Given the description of an element on the screen output the (x, y) to click on. 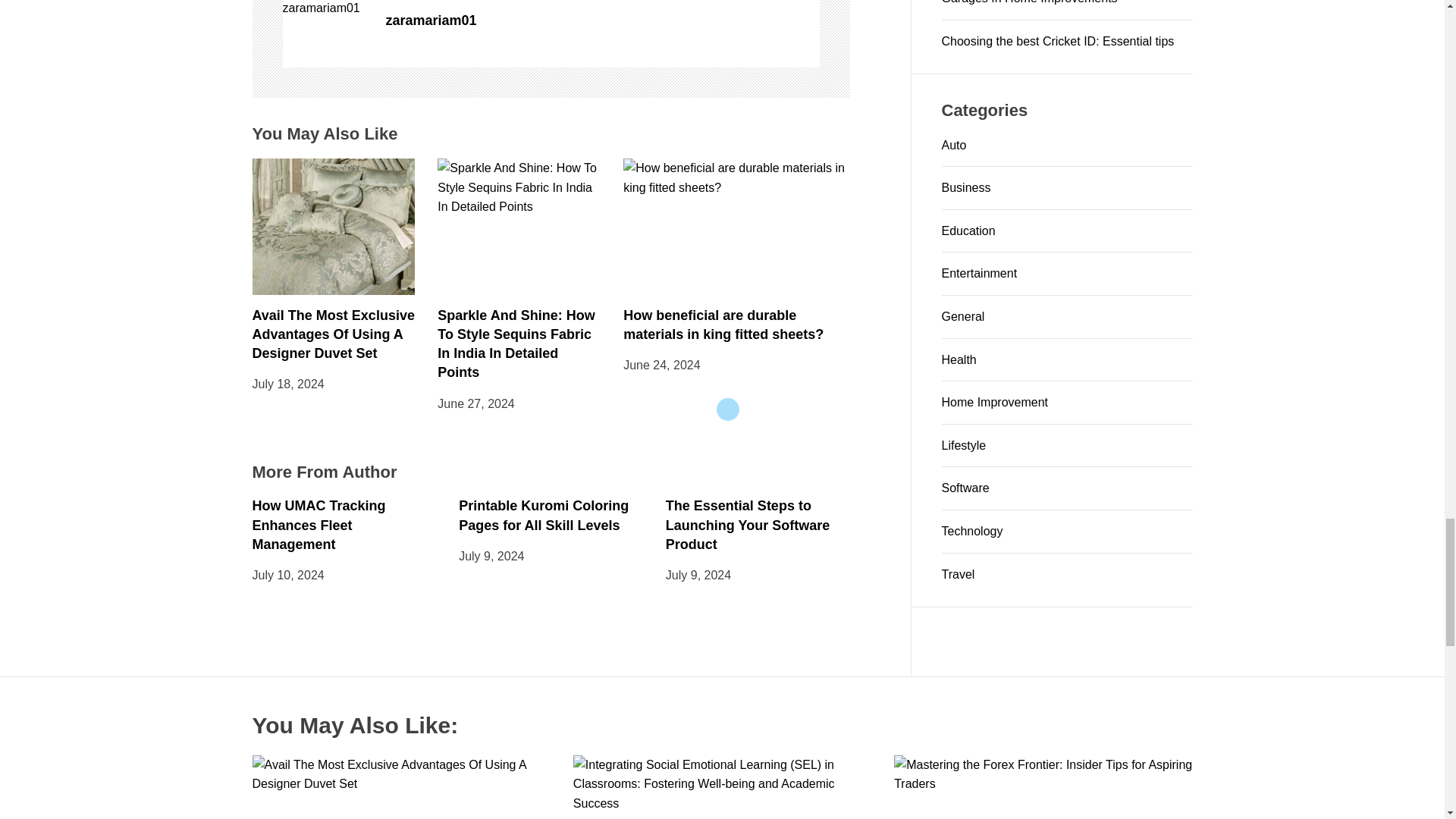
zaramariam01 (325, 9)
zaramariam01 (601, 20)
